Given the description of an element on the screen output the (x, y) to click on. 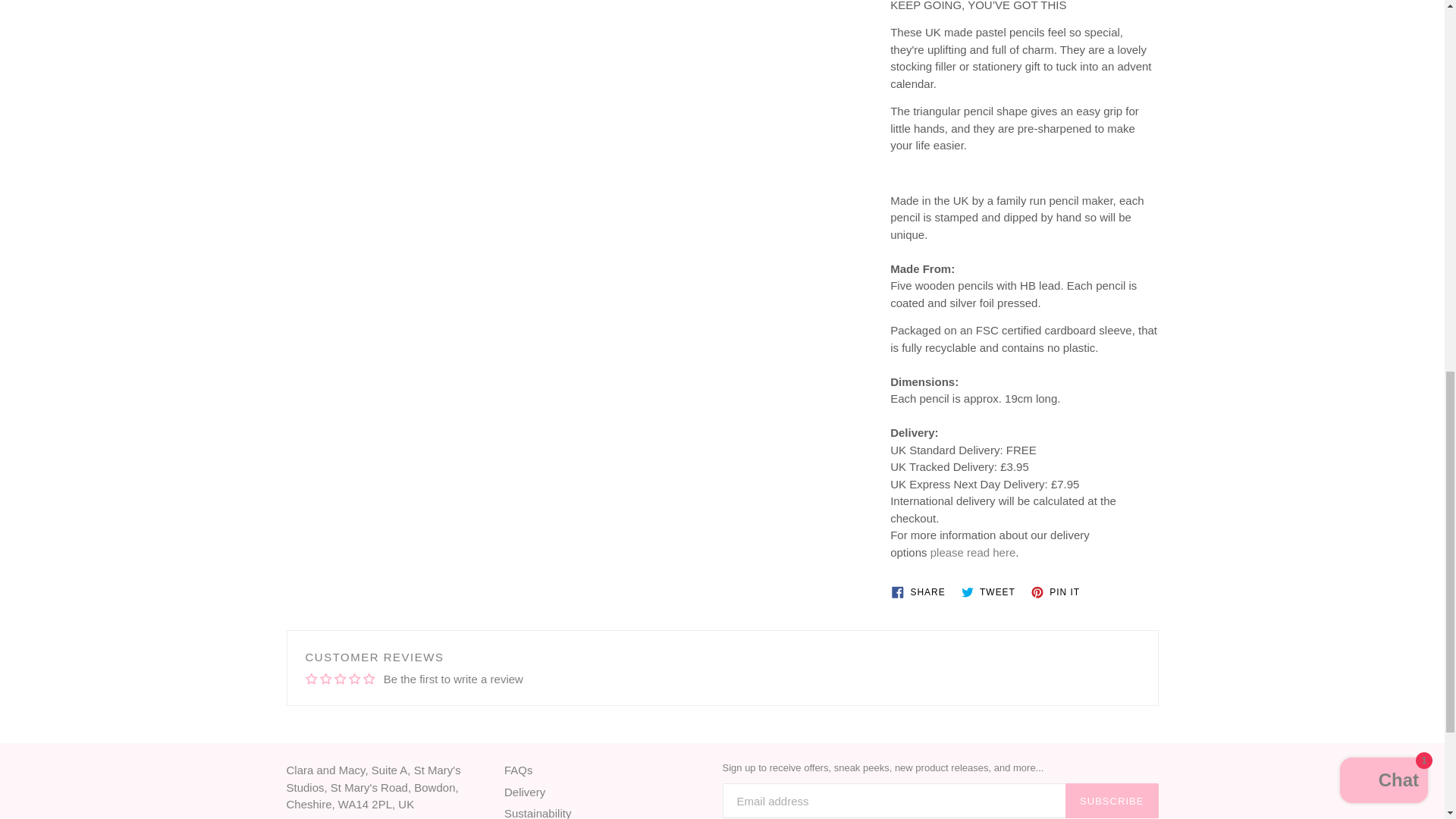
Share on Facebook (920, 591)
Tweet on Twitter (991, 591)
Pin on Pinterest (1058, 591)
